Given the description of an element on the screen output the (x, y) to click on. 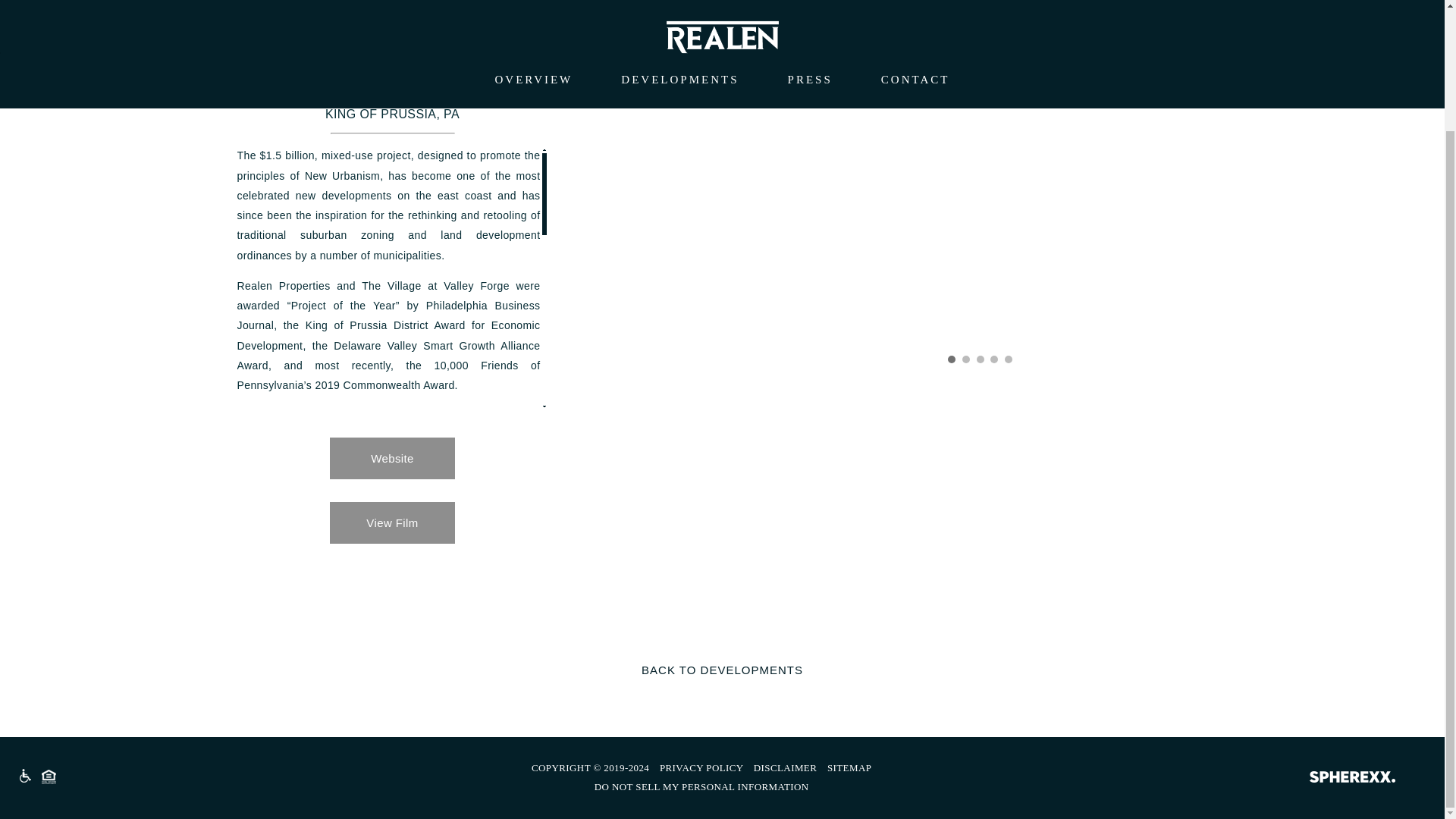
Spherexx home (1352, 777)
SITEMAP (848, 767)
View Film (392, 522)
Equal Housing Opportunity (49, 776)
DISCLAIMER (785, 767)
DO NOT SELL MY PERSONAL INFORMATION (701, 786)
Website (392, 458)
BACK TO DEVELOPMENTS (722, 669)
PRIVACY POLICY (700, 767)
